Given the description of an element on the screen output the (x, y) to click on. 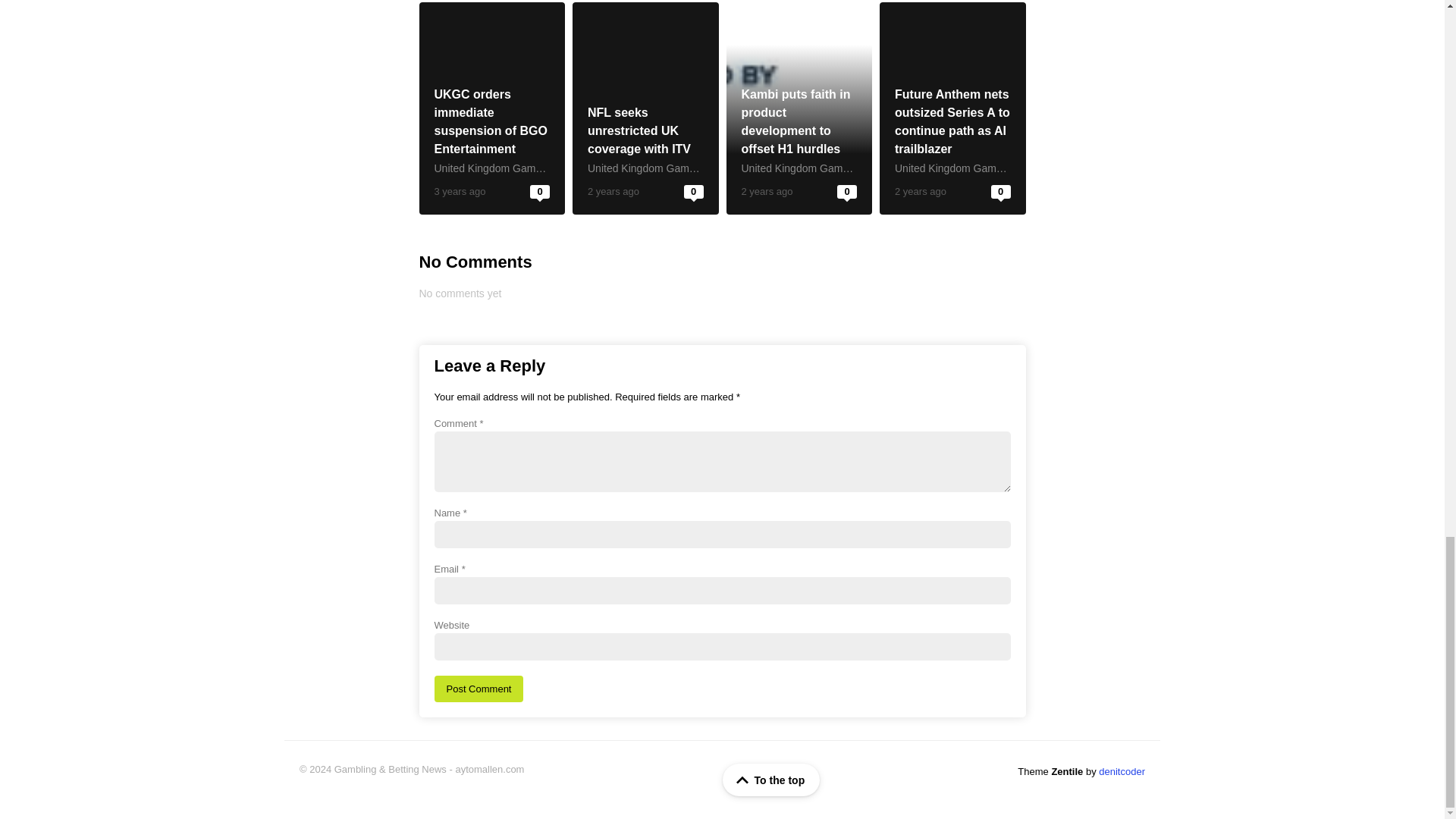
To the top (771, 779)
Post Comment (477, 688)
Kambi puts faith in product development to offset H1 hurdles (799, 108)
Kambi puts faith in product development to offset H1 hurdles (795, 121)
UKGC orders immediate suspension of BGO Entertainment (491, 108)
United Kingdom Gambling Commission (833, 168)
Post Comment (477, 688)
denitcoder (1121, 771)
United Kingdom Gambling Commission (525, 168)
NFL seeks unrestricted UK coverage with ITV  (645, 108)
UKGC orders immediate suspension of BGO Entertainment (490, 121)
NFL seeks unrestricted UK coverage with ITV  (641, 130)
United Kingdom Gambling Commission (680, 168)
